Given the description of an element on the screen output the (x, y) to click on. 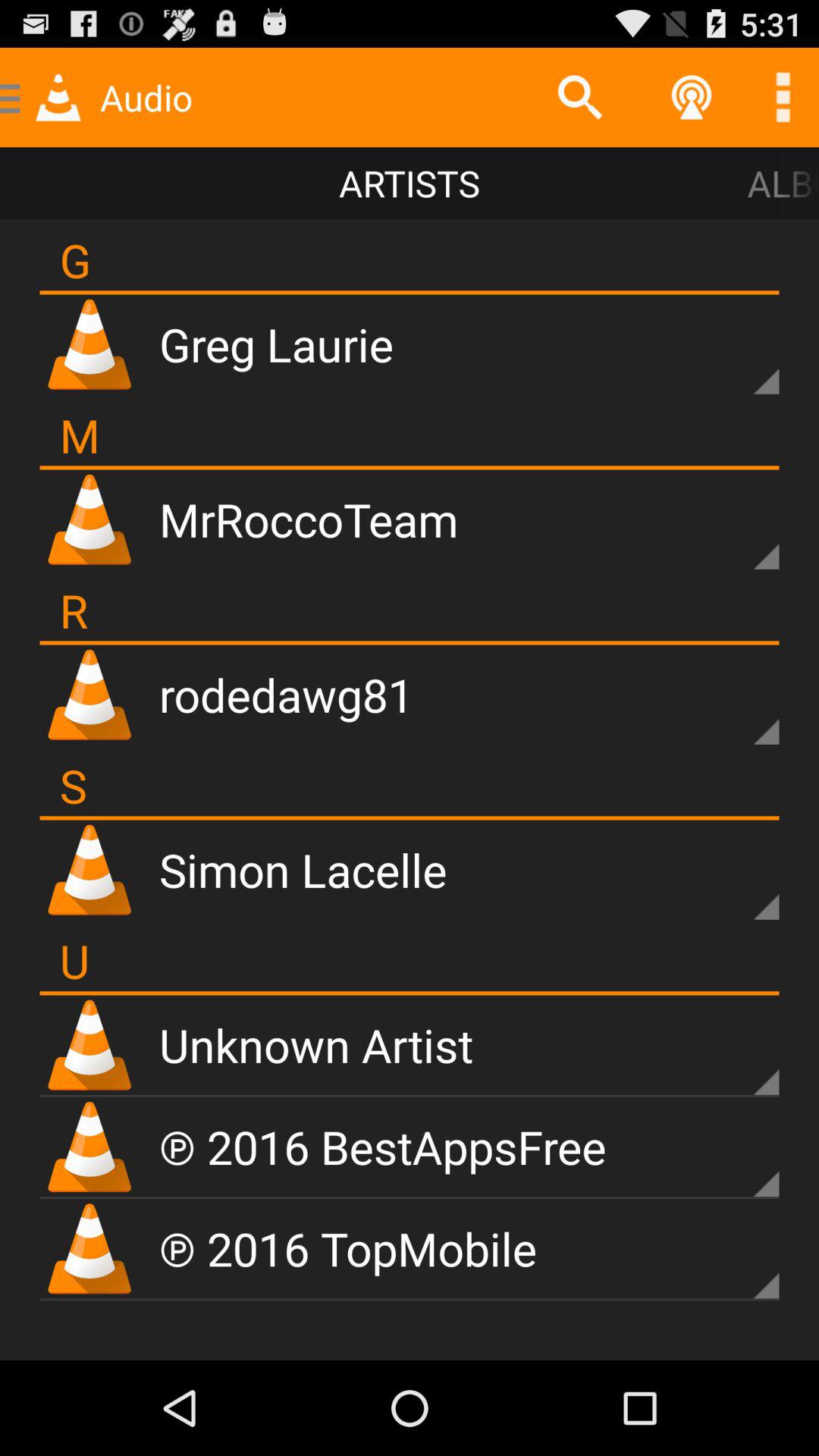
see drop sown menu (740, 1259)
